Given the description of an element on the screen output the (x, y) to click on. 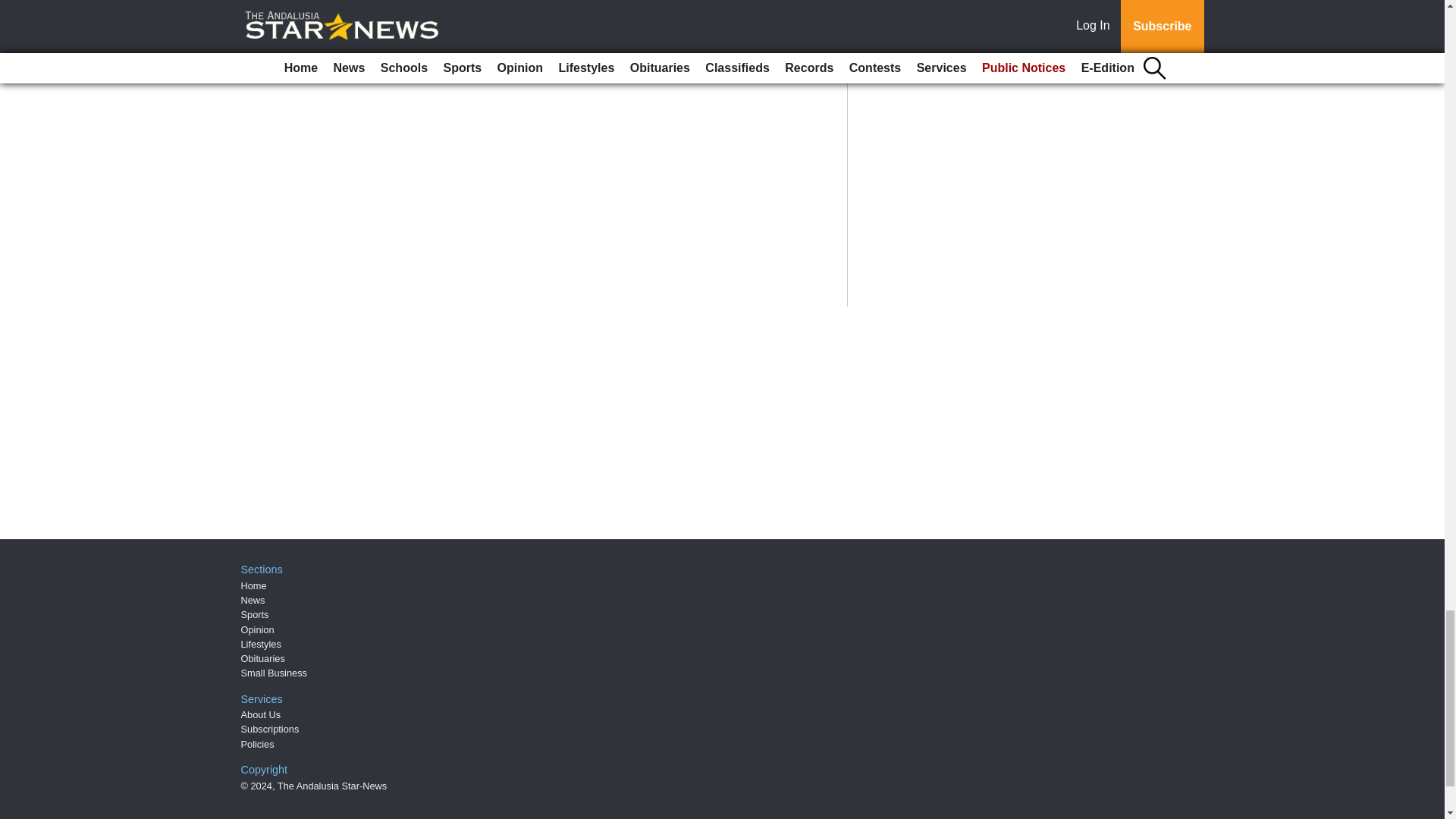
Home (253, 585)
Lifestyles (261, 644)
Obituaries (263, 658)
News (252, 600)
Opinion (258, 629)
Sports (255, 614)
